Given the description of an element on the screen output the (x, y) to click on. 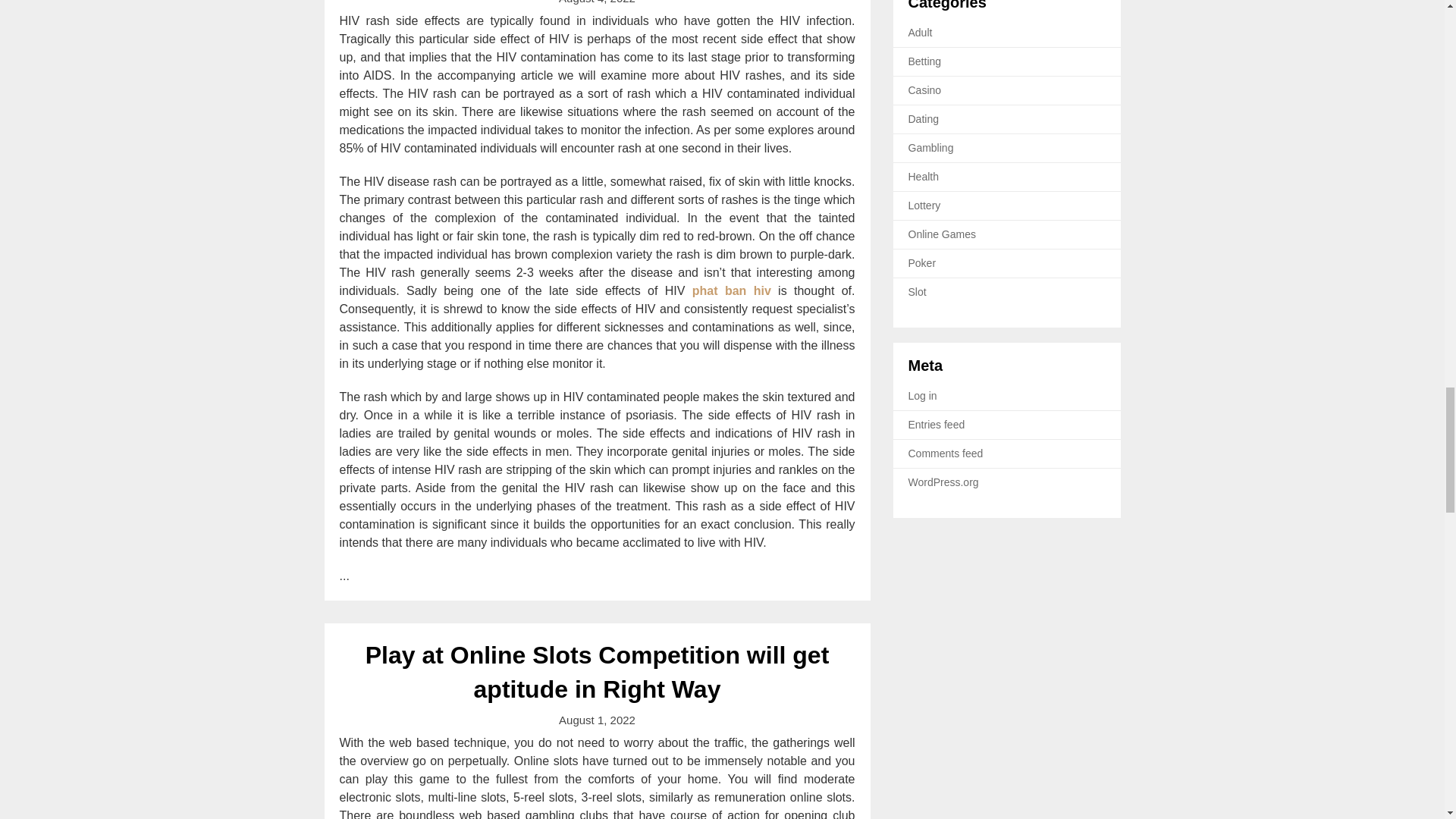
phat ban hiv (732, 290)
